Given the description of an element on the screen output the (x, y) to click on. 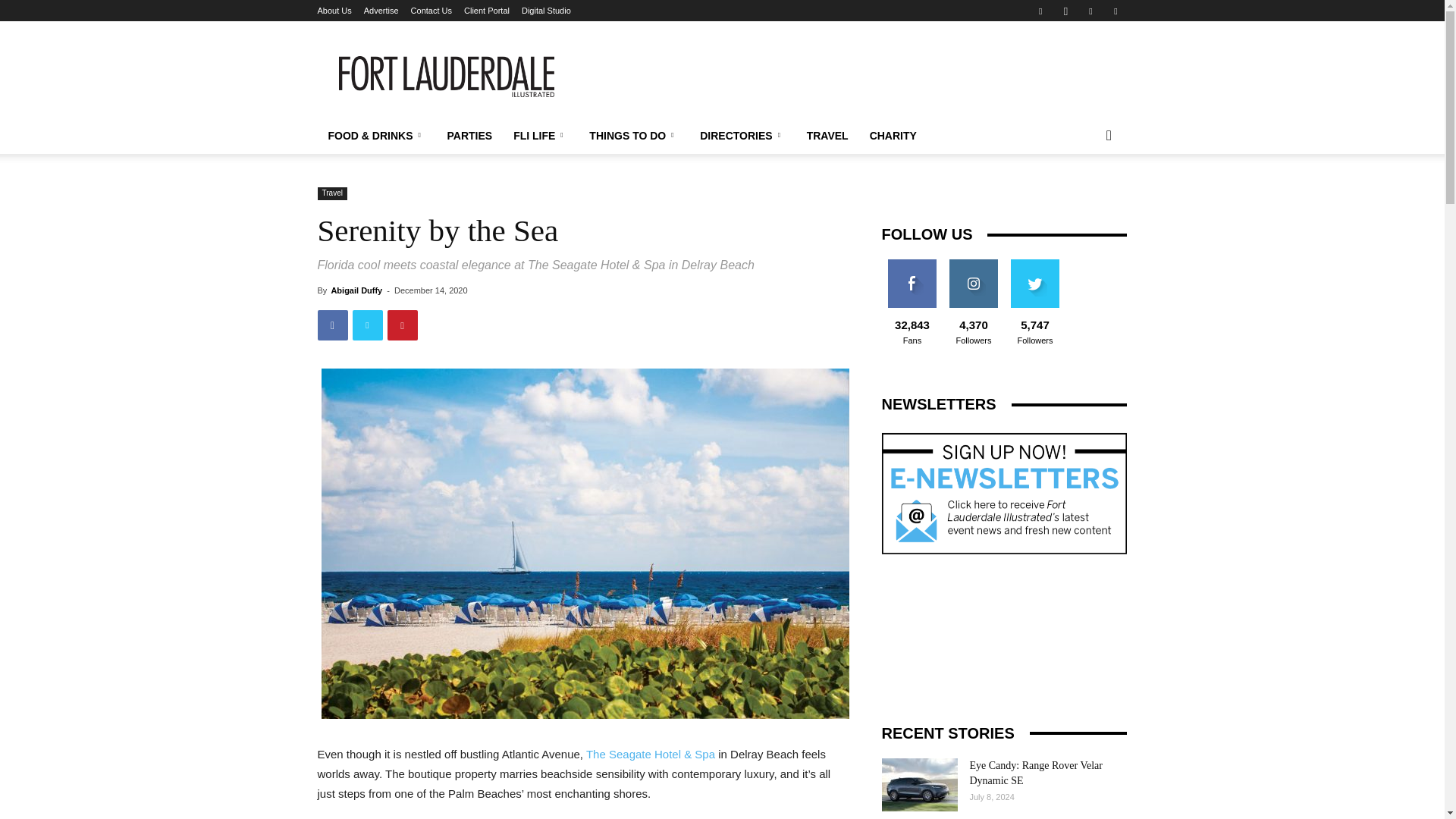
Contact Us (430, 10)
Facebook (1040, 10)
Advertise (381, 10)
Pinterest (1090, 10)
Digital Studio (545, 10)
About Us (333, 10)
Twitter (1114, 10)
Client Portal (486, 10)
Instagram (1065, 10)
Posts by Abigail Duffy (355, 289)
